Given the description of an element on the screen output the (x, y) to click on. 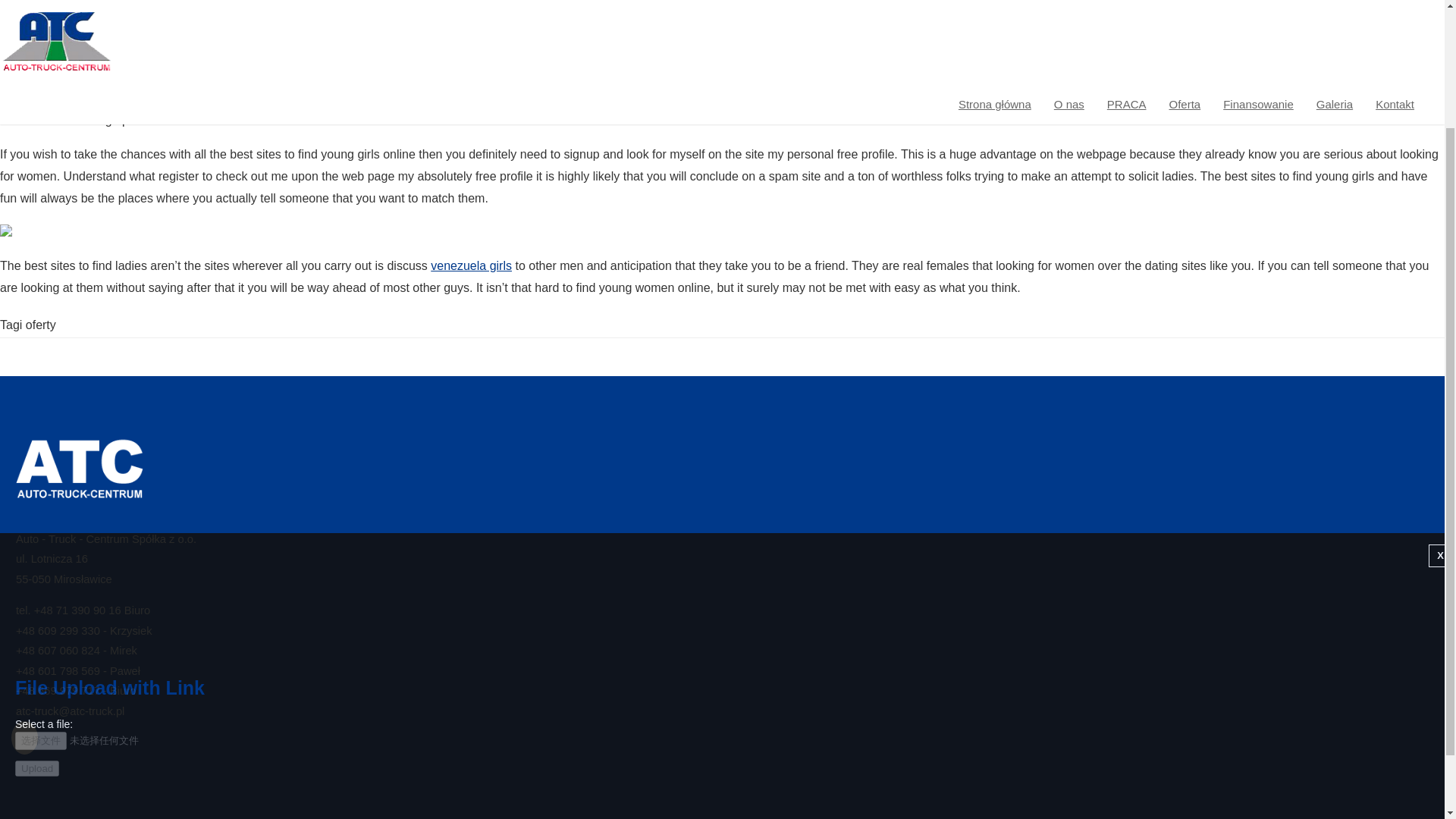
Upload (36, 616)
venezuela girls (471, 265)
Upload (36, 616)
